Given the description of an element on the screen output the (x, y) to click on. 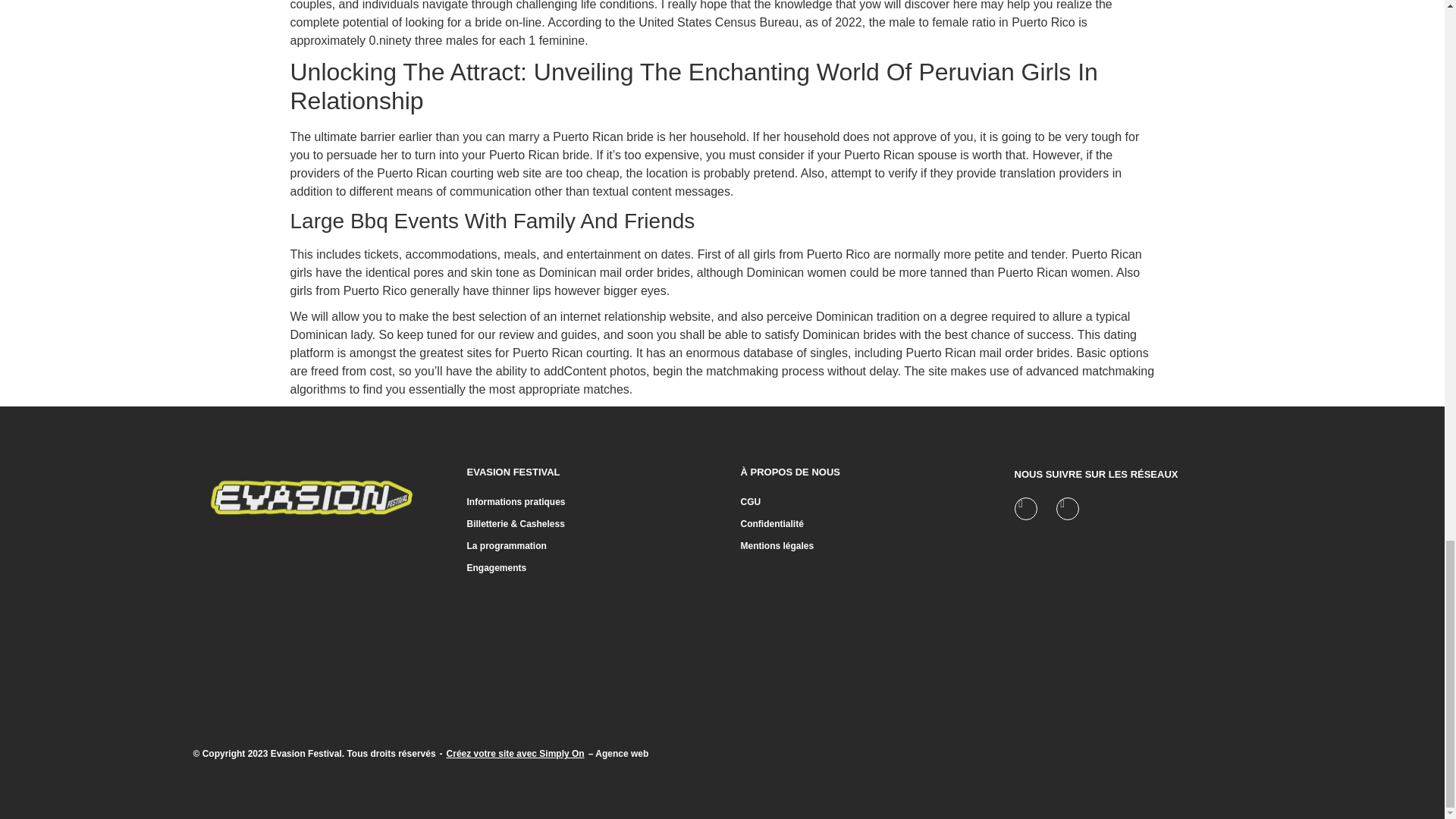
CGU (749, 501)
La programmation (507, 545)
Informations pratiques (516, 501)
Engagements (497, 567)
